Given the description of an element on the screen output the (x, y) to click on. 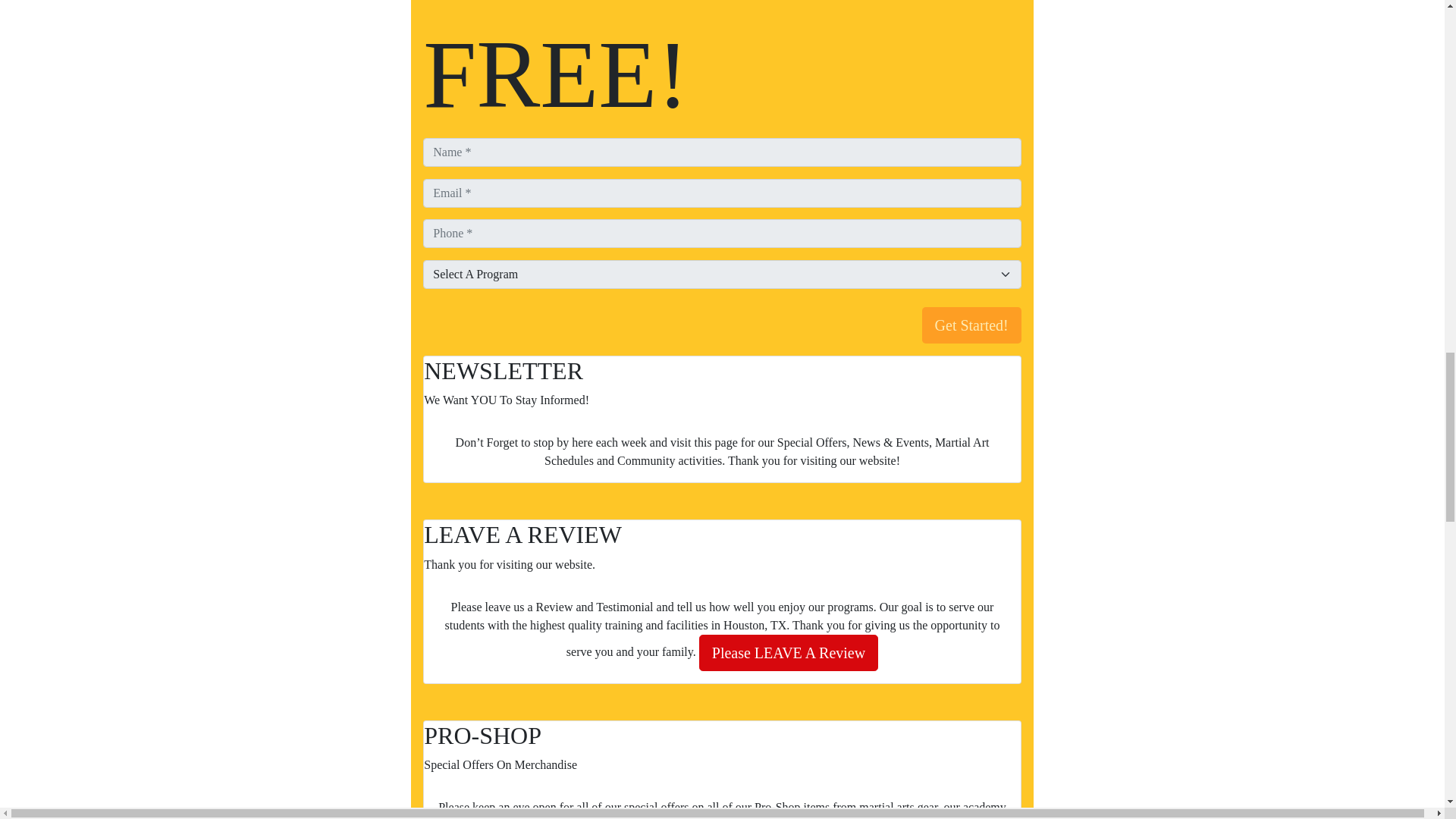
Please LEAVE A Review (787, 652)
Get Started! (971, 325)
Get Started! (971, 325)
